Given the description of an element on the screen output the (x, y) to click on. 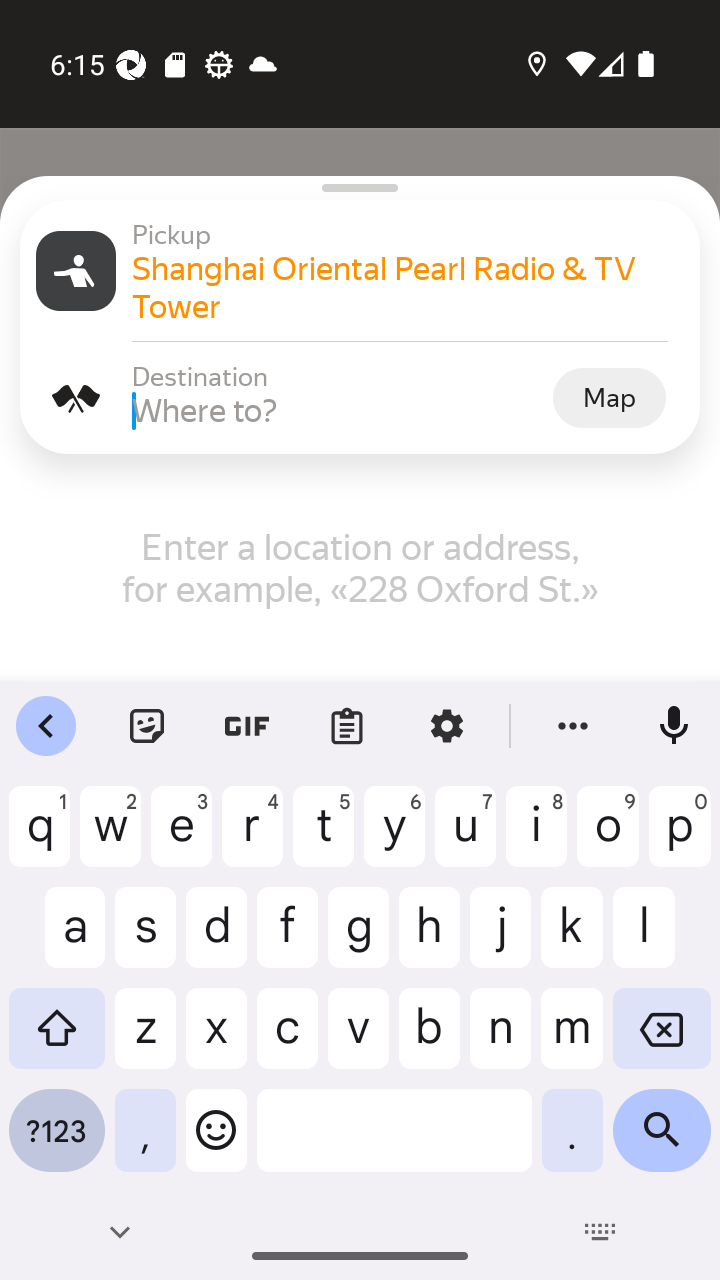
Shanghai Oriental Pearl Radio & TV Tower (407, 287)
Destination Destination Where to? Map (359, 397)
Map (609, 398)
Where to? (340, 410)
